Given the description of an element on the screen output the (x, y) to click on. 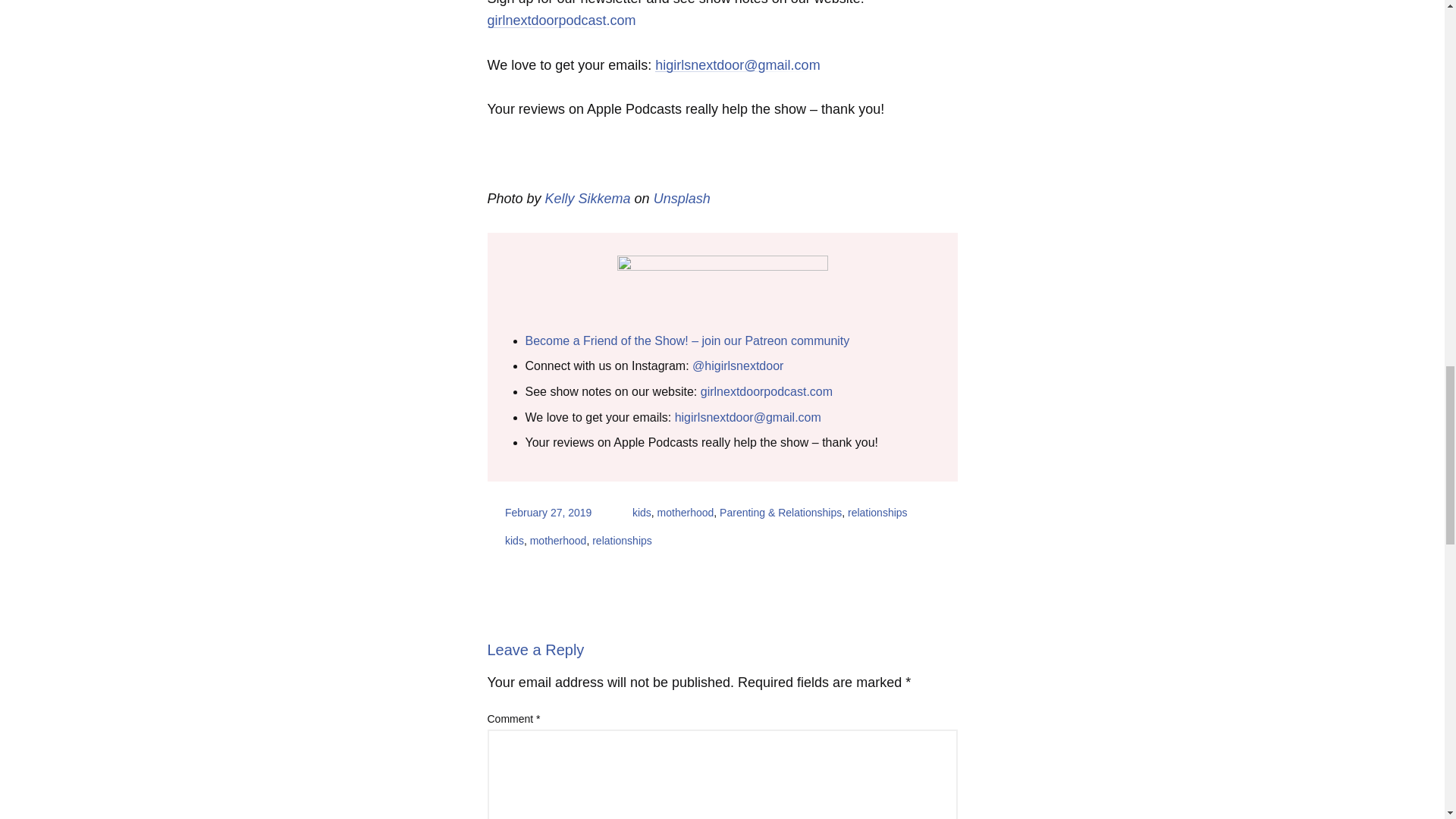
Kelly Sikkema (587, 198)
Unsplash (681, 198)
girlnextdoorpodcast.com (560, 20)
girlnextdoorpodcast.com (766, 391)
